Given the description of an element on the screen output the (x, y) to click on. 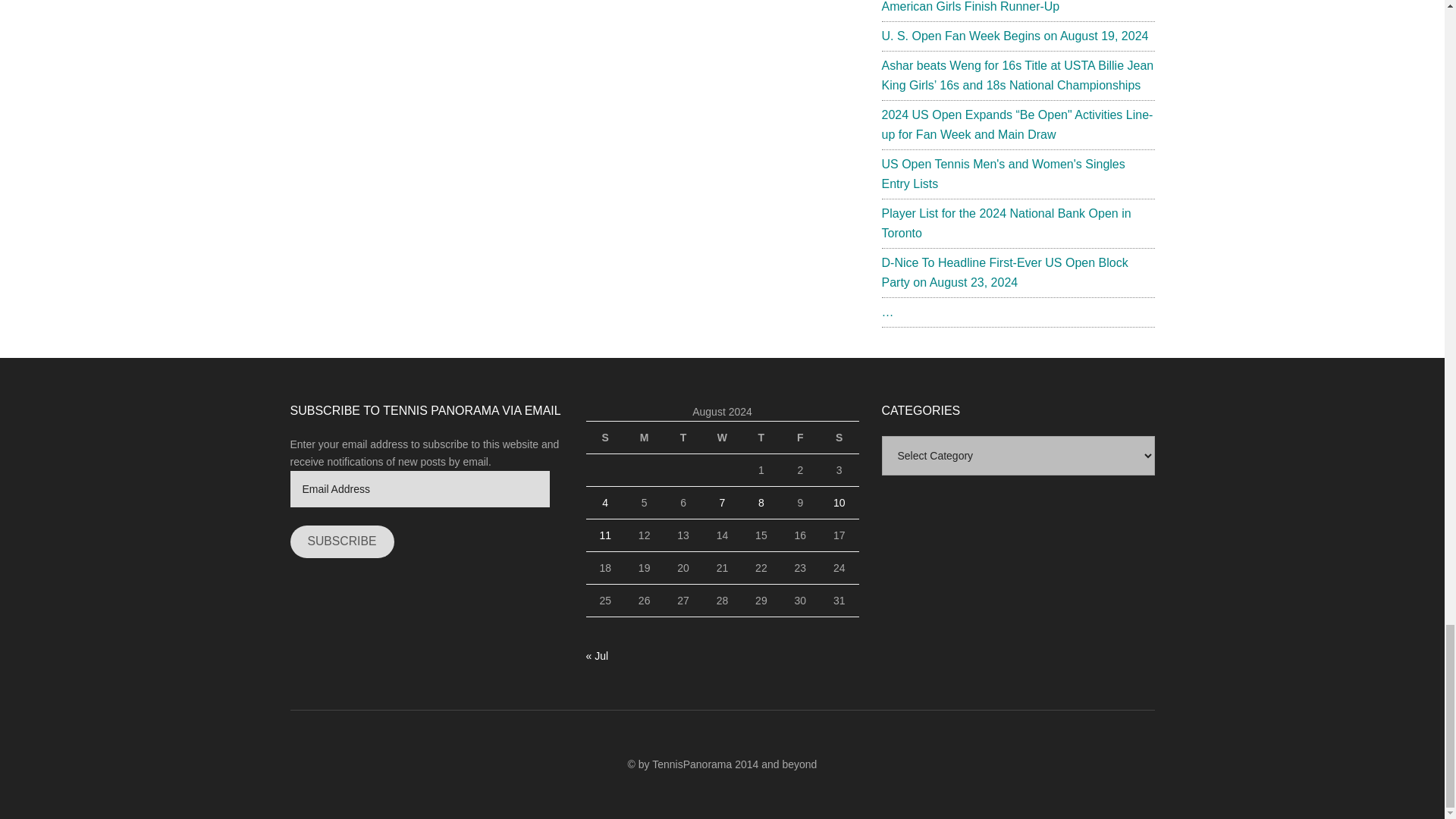
Sunday (604, 436)
Saturday (839, 436)
Monday (643, 436)
Friday (799, 436)
Thursday (760, 436)
Wednesday (722, 436)
Tuesday (682, 436)
